Given the description of an element on the screen output the (x, y) to click on. 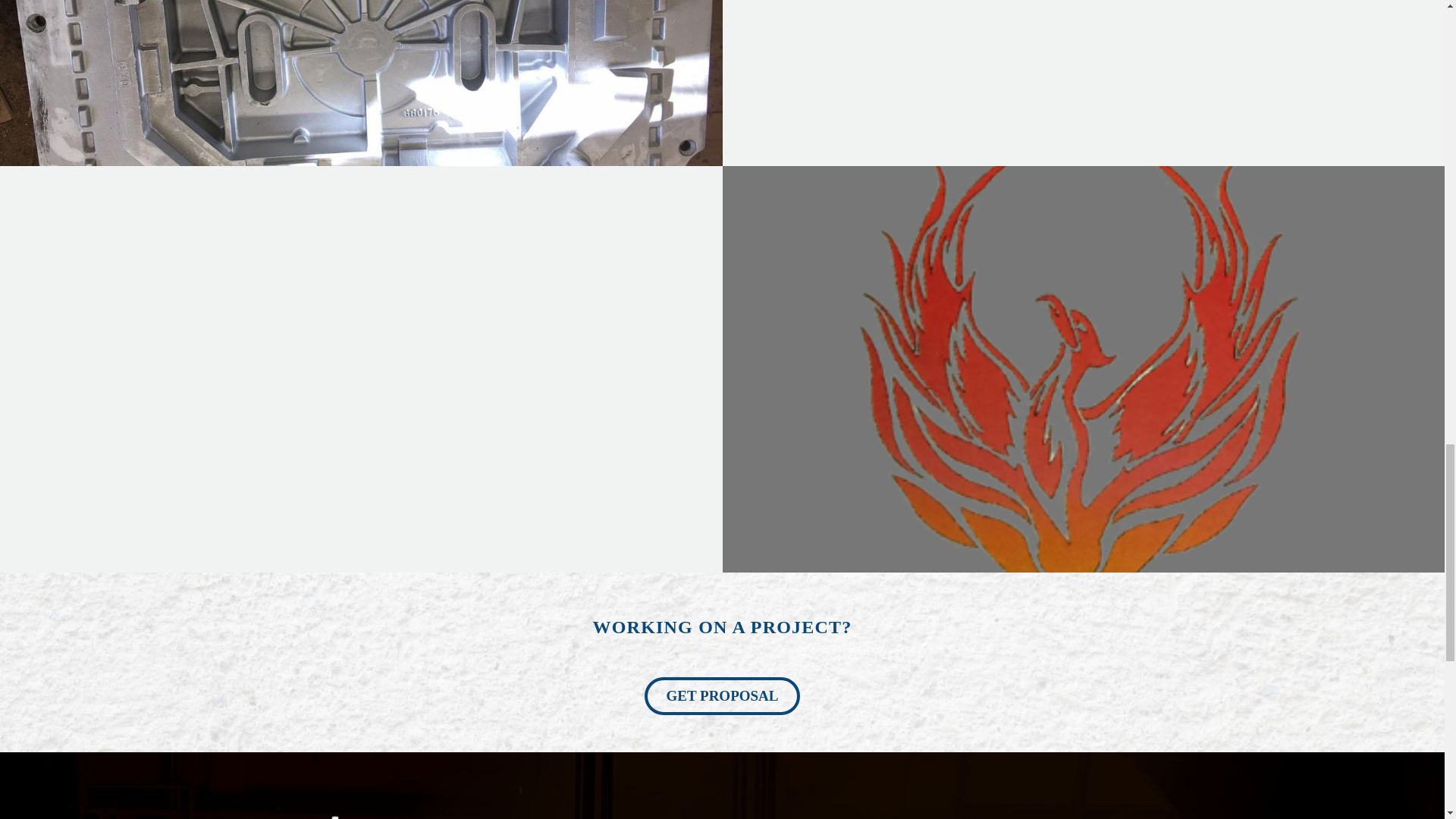
GET PROPOSAL (722, 695)
Request a Quote (722, 695)
